Given the description of an element on the screen output the (x, y) to click on. 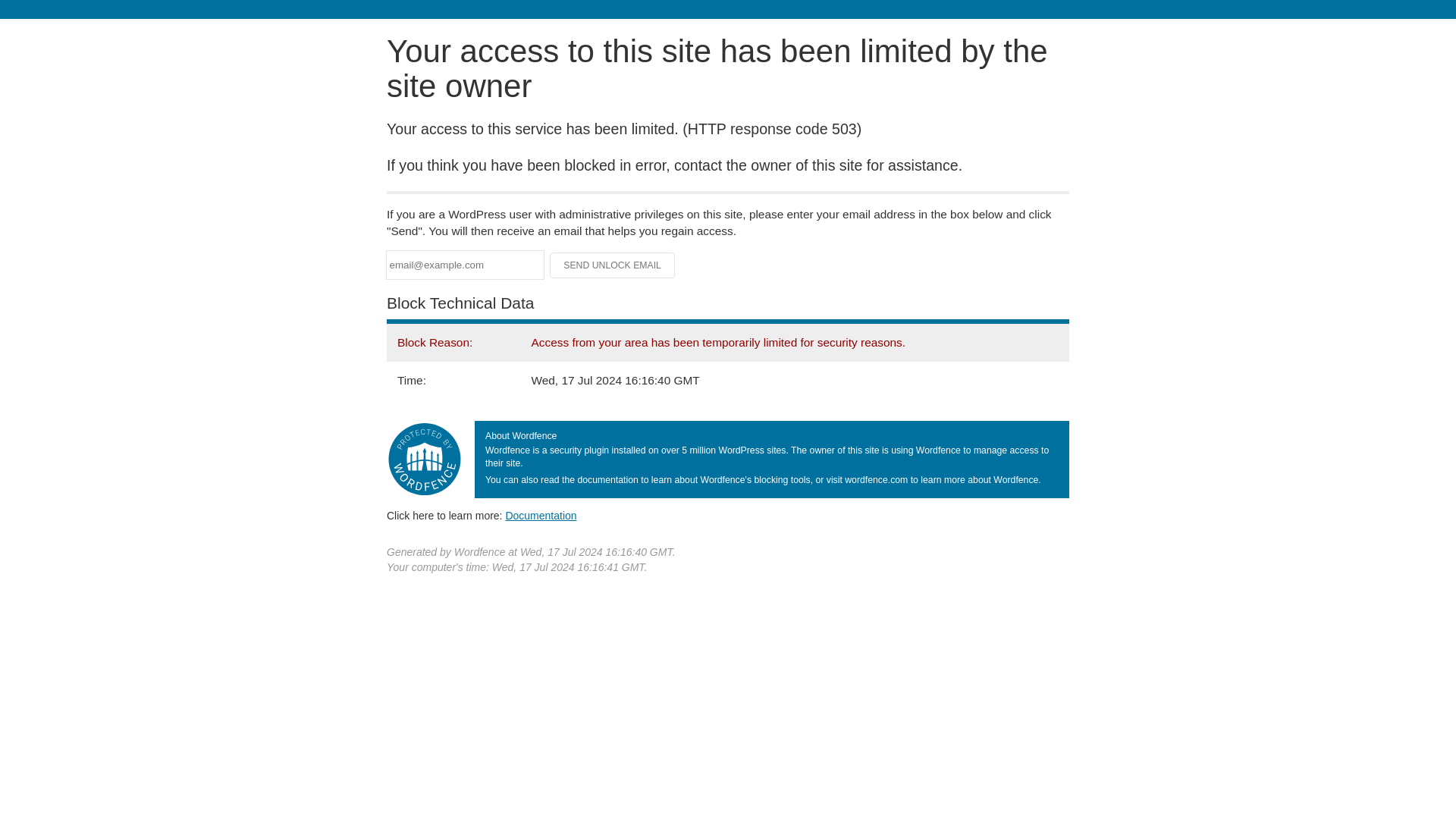
Documentation (540, 515)
Send Unlock Email (612, 265)
Send Unlock Email (612, 265)
